Given the description of an element on the screen output the (x, y) to click on. 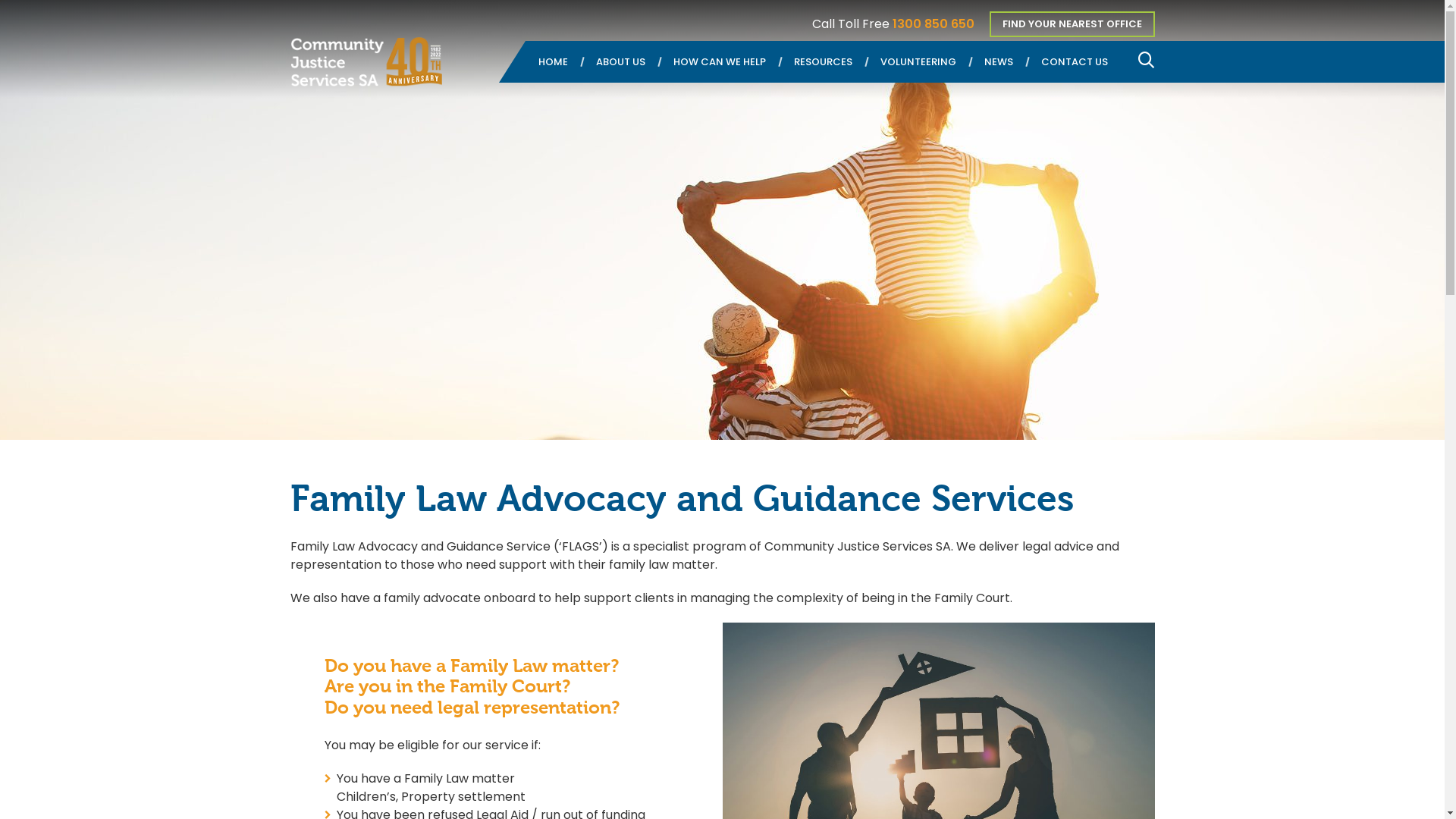
VOLUNTEERING Element type: text (917, 61)
1300 850 650 Element type: text (932, 23)
HOW CAN WE HELP Element type: text (717, 61)
RESOURCES Element type: text (822, 61)
HOME Element type: text (551, 61)
ABOUT US Element type: text (618, 61)
FIND YOUR NEAREST OFFICE Element type: text (1071, 24)
NEWS Element type: text (996, 61)
CONTACT US Element type: text (1073, 61)
